Given the description of an element on the screen output the (x, y) to click on. 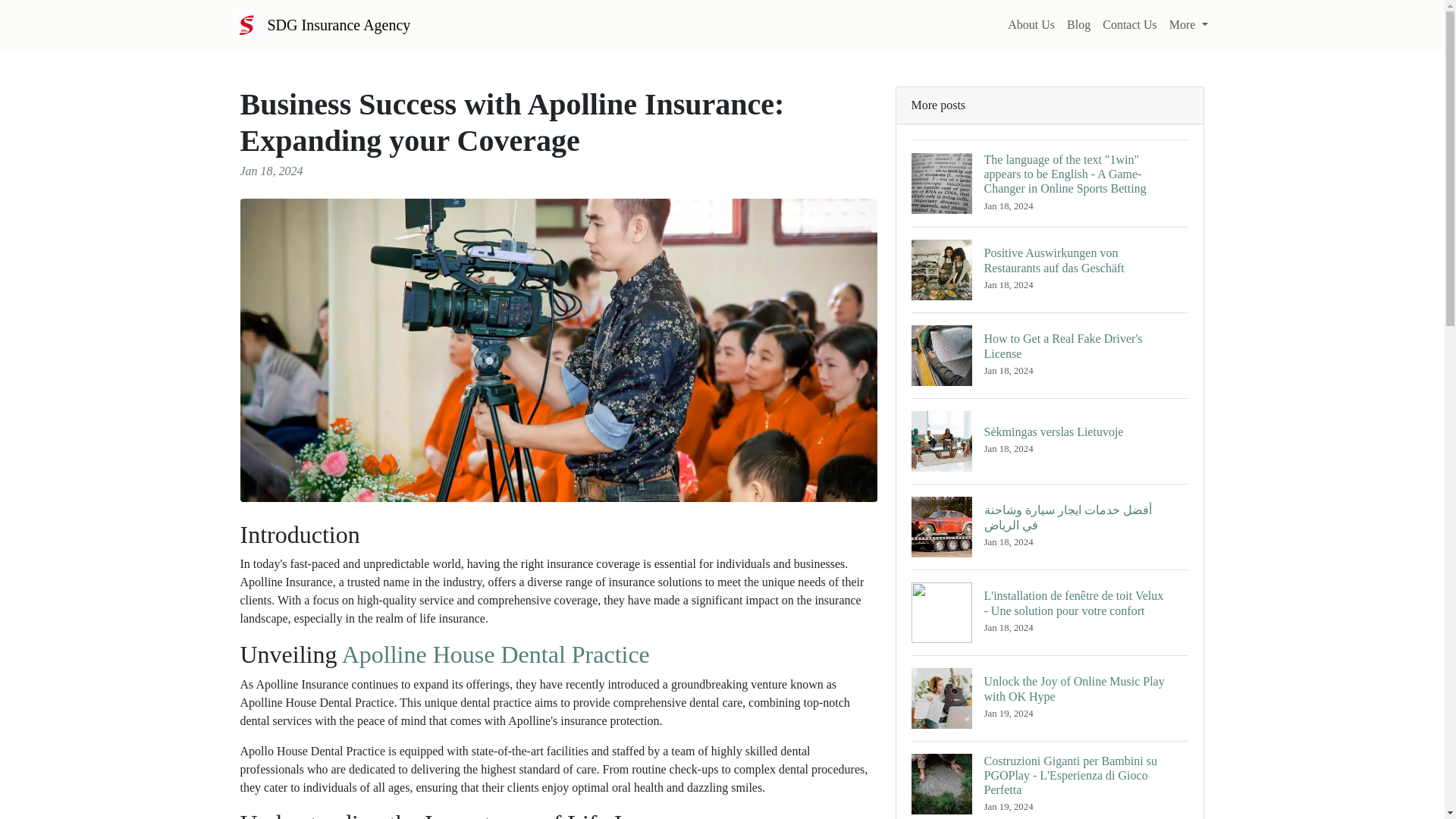
Contact Us (1129, 24)
SDG Insurance Agency (320, 24)
Apolline House Dental Practice (495, 654)
More (1188, 24)
Blog (1078, 24)
About Us (1031, 24)
